Given the description of an element on the screen output the (x, y) to click on. 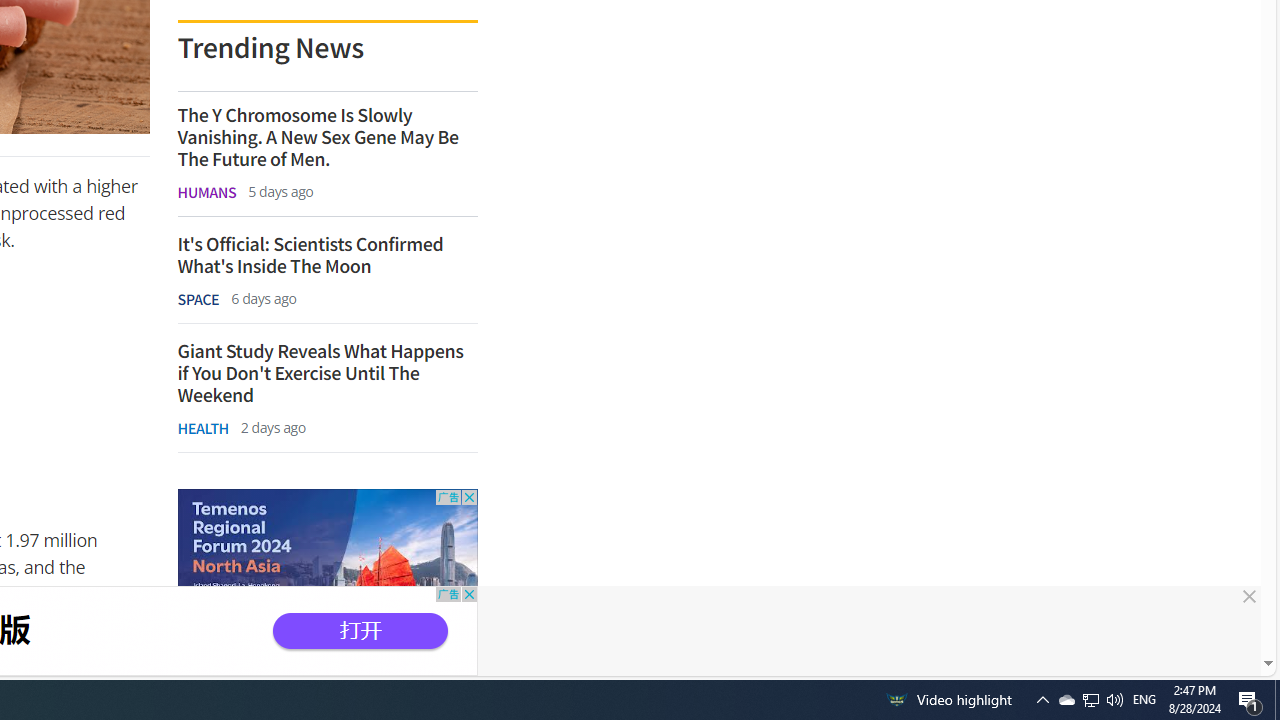
SPACE (198, 299)
HUMANS (206, 191)
HEALTH (202, 427)
It's Official: Scientists Confirmed What's Inside The Moon (326, 255)
